Given the description of an element on the screen output the (x, y) to click on. 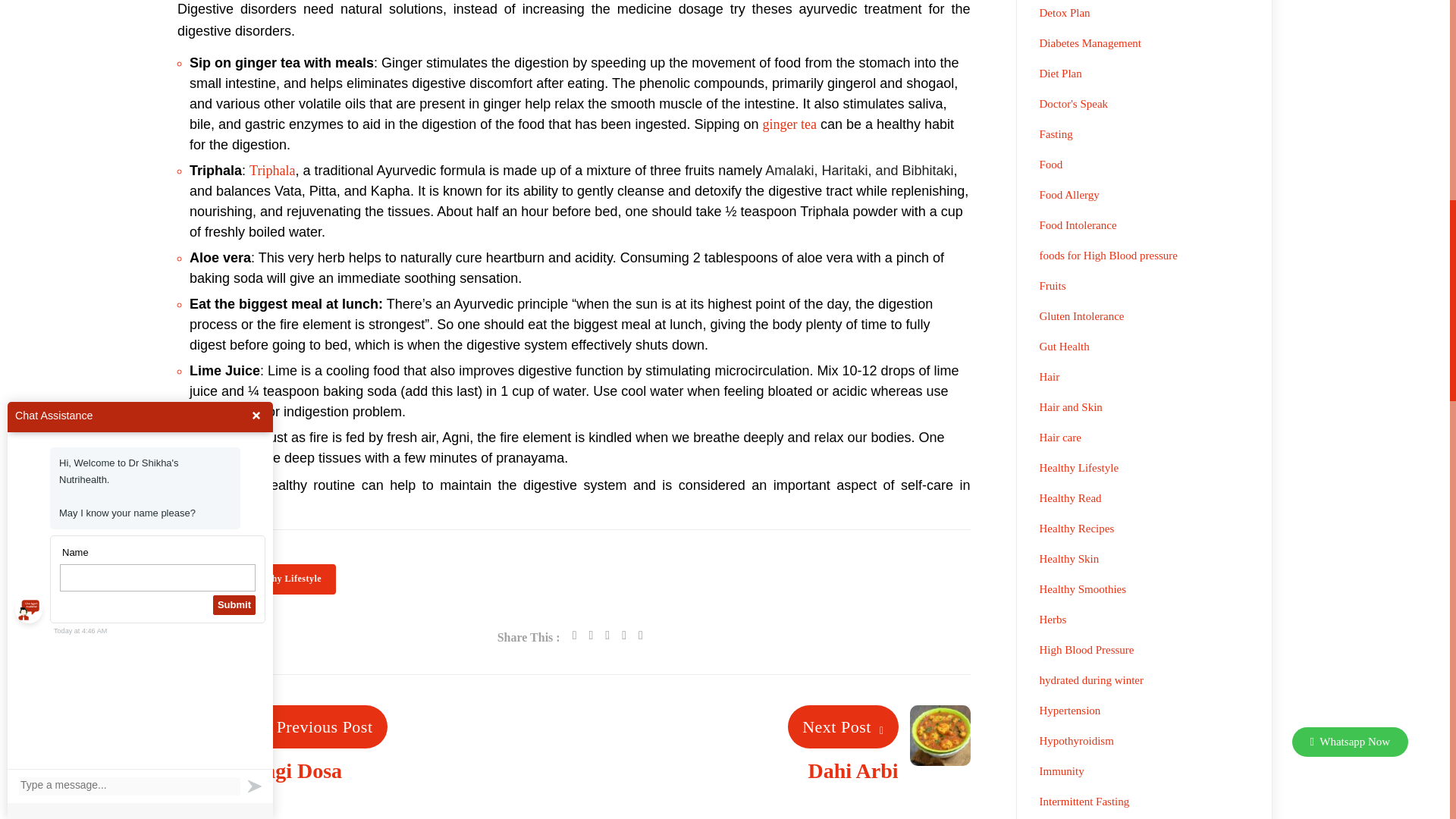
whatsapp (606, 635)
skype (640, 635)
facebook (573, 635)
telegram (623, 635)
twitter (589, 635)
